Given the description of an element on the screen output the (x, y) to click on. 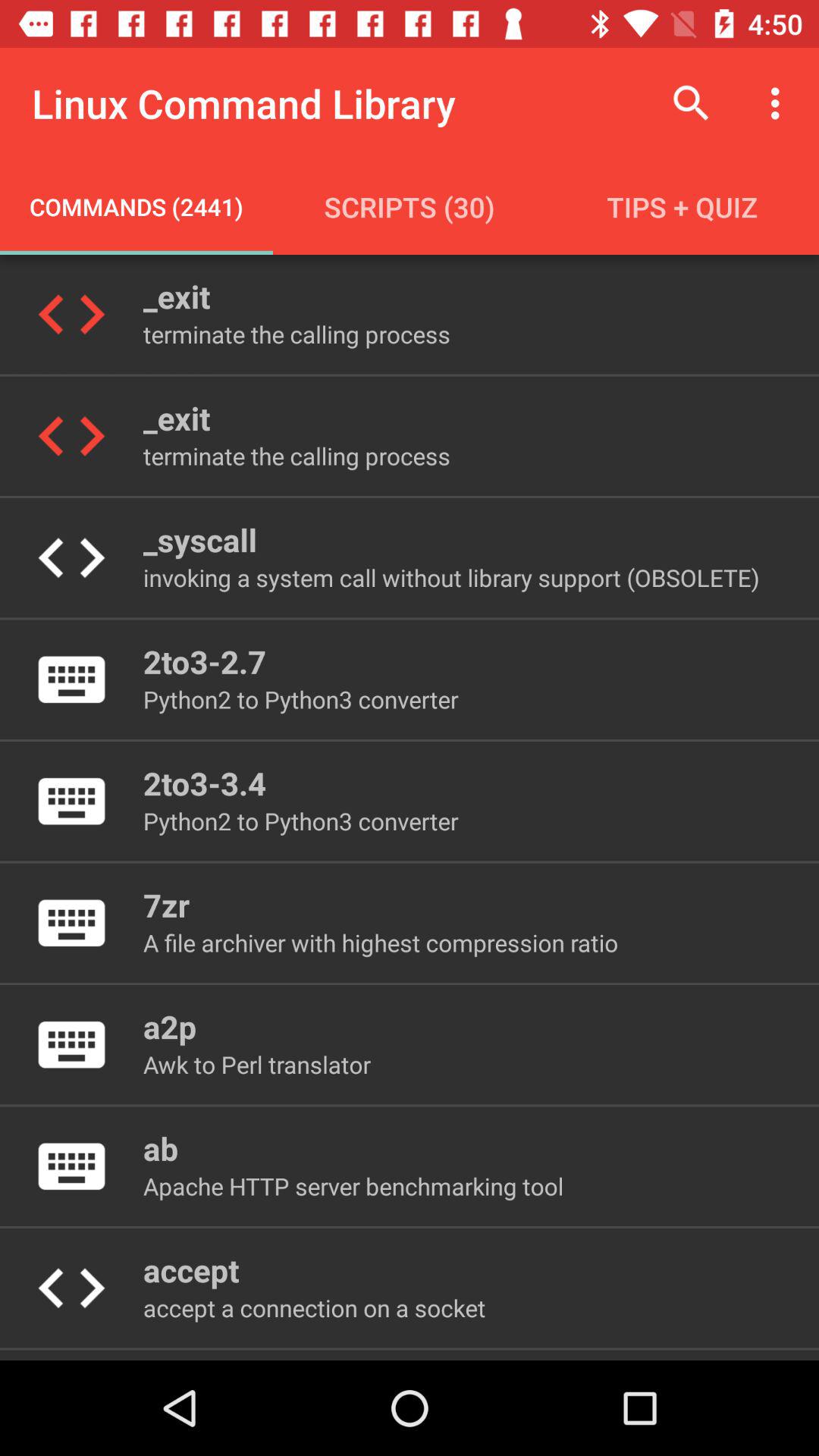
launch the apache http server item (353, 1185)
